Given the description of an element on the screen output the (x, y) to click on. 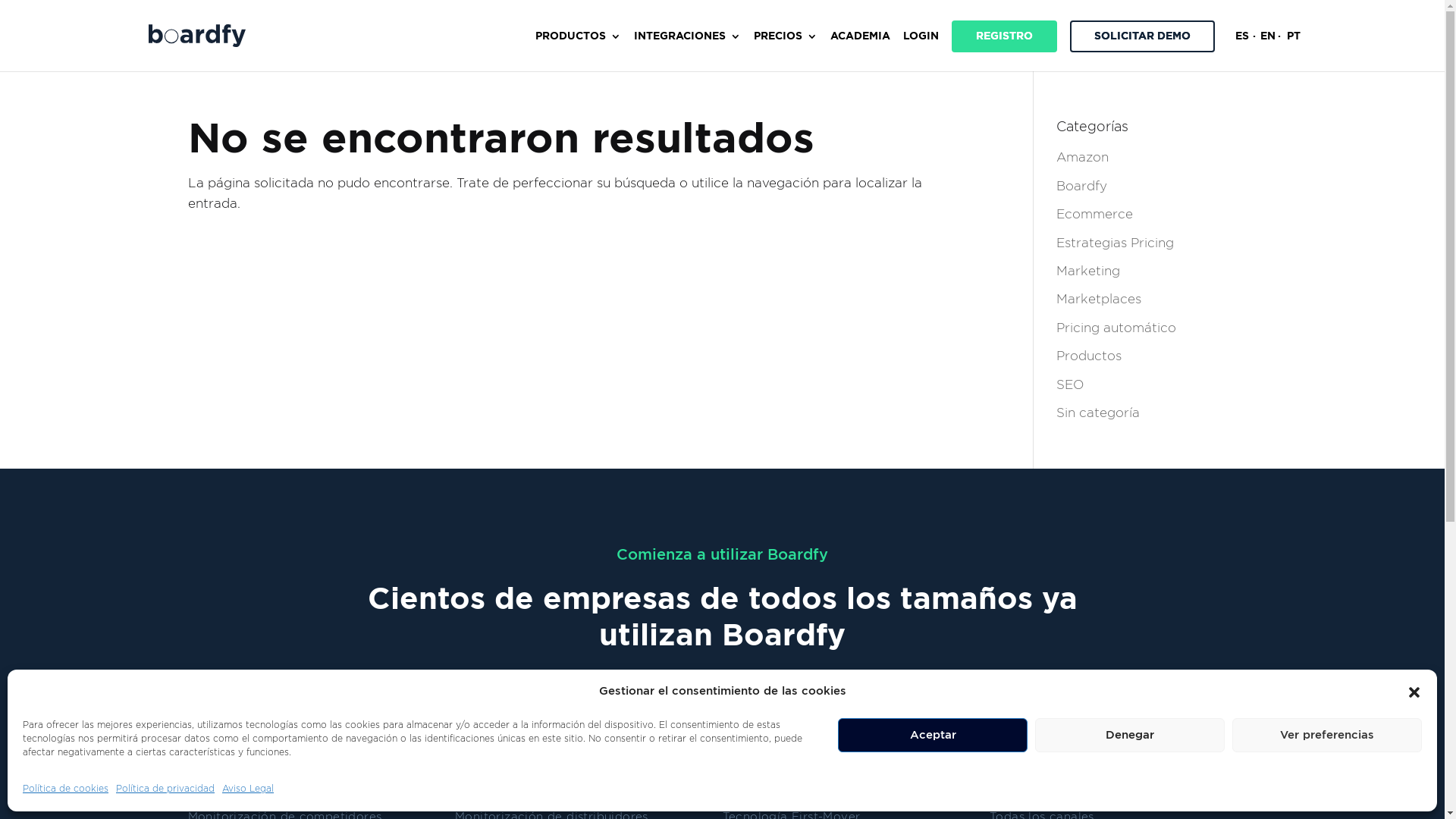
Aviso Legal Element type: text (247, 789)
SOLICITAR DEMO Element type: text (1141, 36)
EN Element type: text (1267, 48)
Marketplaces Element type: text (1098, 298)
Solicita tu demo Element type: text (812, 703)
Amazon Element type: text (1082, 156)
Solicita tu demo Element type: text (805, 702)
ACADEMIA Element type: text (859, 48)
Denegar Element type: text (1129, 735)
Prueba Boardfy Gratis Element type: text (645, 702)
Ecommerce Element type: text (1094, 213)
Aceptar Element type: text (932, 735)
Ver preferencias Element type: text (1326, 735)
Marketing Element type: text (1088, 270)
LOGIN Element type: text (920, 48)
PT Element type: text (1292, 48)
SEO Element type: text (1069, 384)
Productos Element type: text (1088, 355)
Prueba Boardfy Gratis Element type: text (645, 703)
PRODUCTOS Element type: text (578, 48)
INTEGRACIONES Element type: text (686, 48)
REGISTRO Element type: text (1003, 36)
PRECIOS Element type: text (785, 48)
Boardfy Element type: text (1081, 185)
ES Element type: text (1241, 48)
Estrategias Pricing Element type: text (1114, 242)
